Given the description of an element on the screen output the (x, y) to click on. 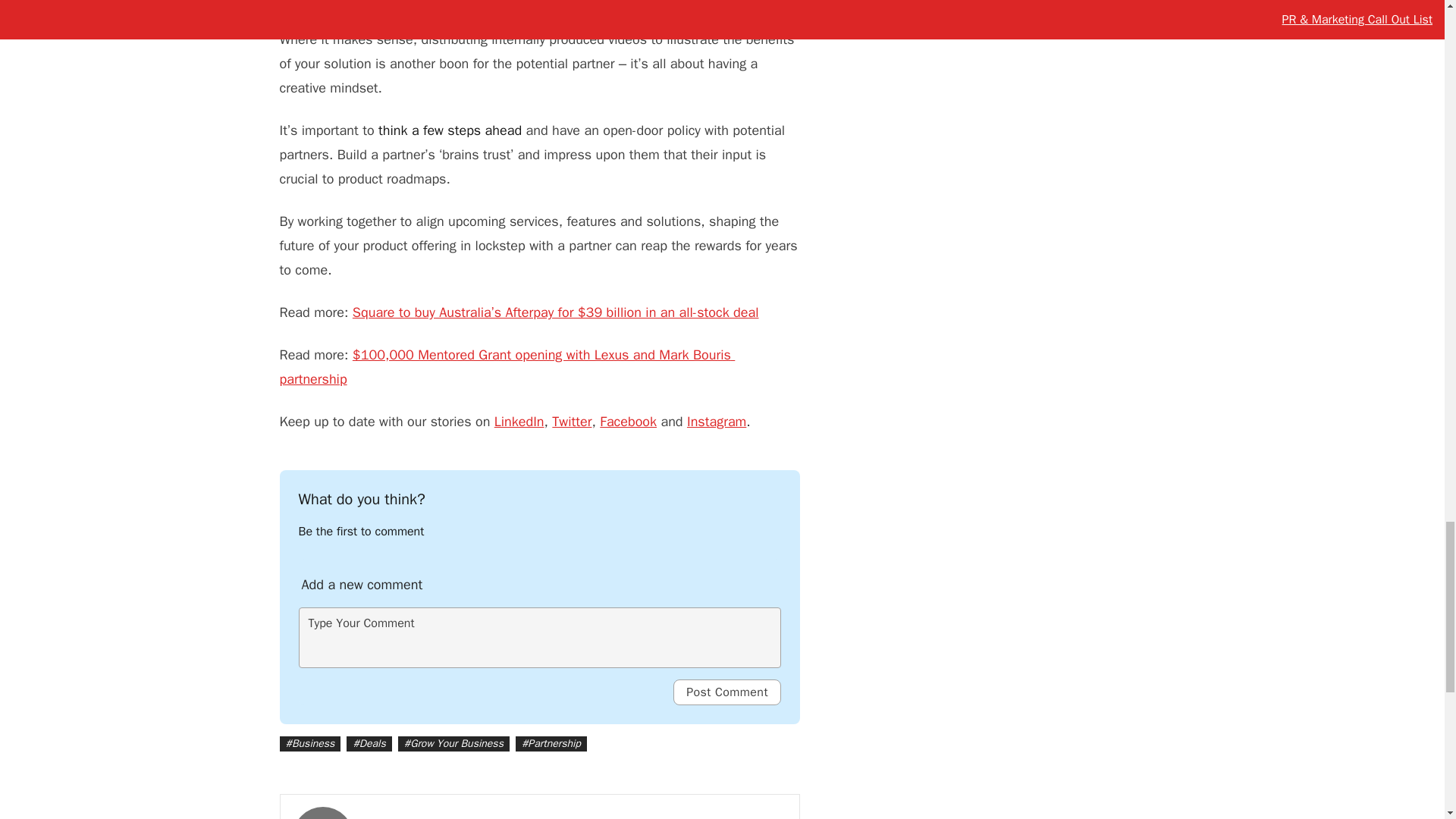
Instagram (716, 421)
Twitter (571, 421)
LinkedIn (519, 421)
Facebook (627, 421)
